Given the description of an element on the screen output the (x, y) to click on. 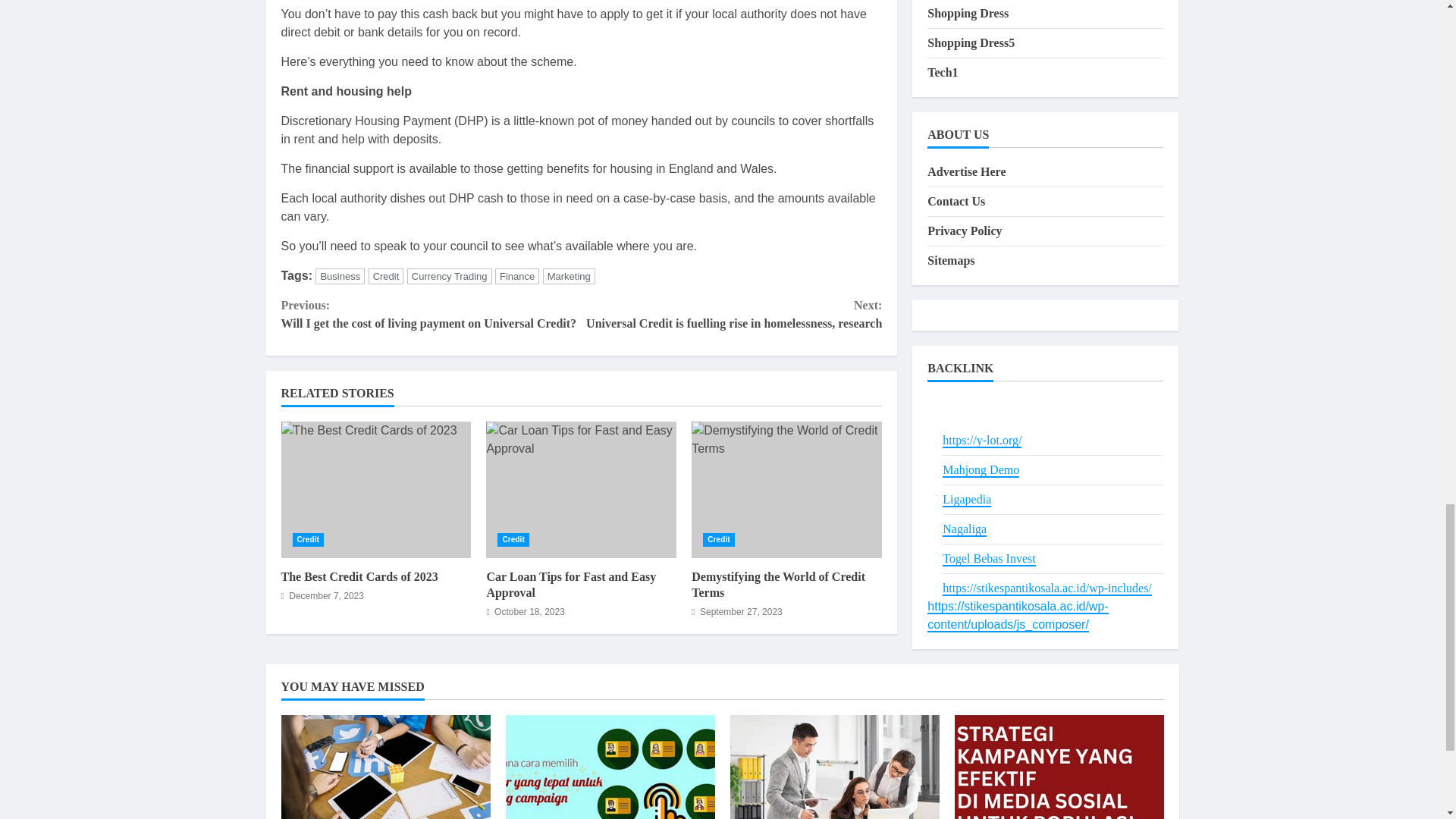
The Best Credit Cards of 2023 (375, 489)
The Best Credit Cards of 2023 (359, 576)
Car Loan Tips for Fast and Easy Approval (581, 489)
Demystifying the World of Credit Terms (786, 489)
Credit (719, 540)
Demystifying the World of Credit Terms (786, 489)
Car Loan Tips for Fast and Easy Approval (581, 489)
